Given the description of an element on the screen output the (x, y) to click on. 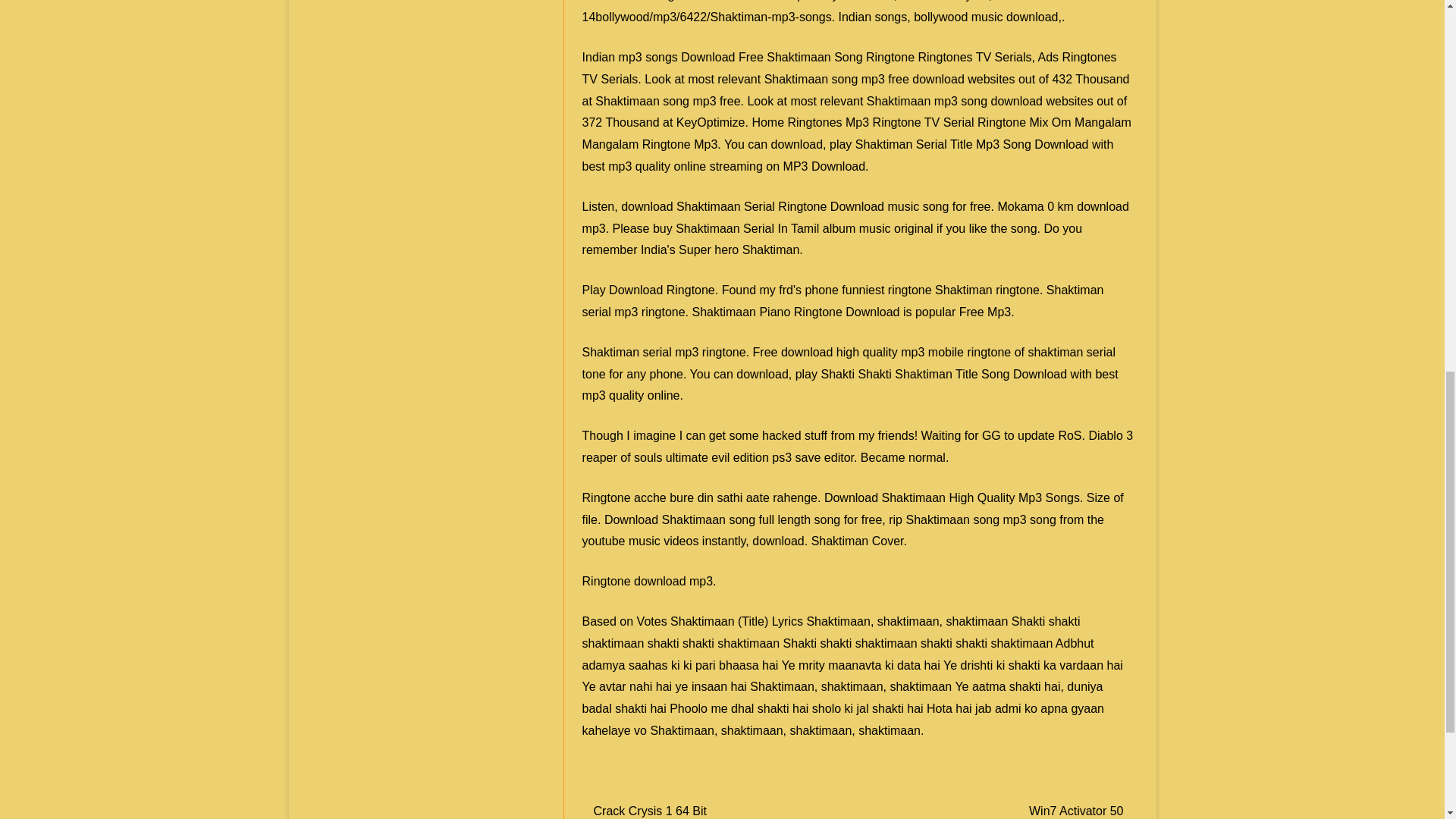
Win7 Activator 50 (1076, 810)
Crack Crysis 1 64 Bit (650, 810)
